Given the description of an element on the screen output the (x, y) to click on. 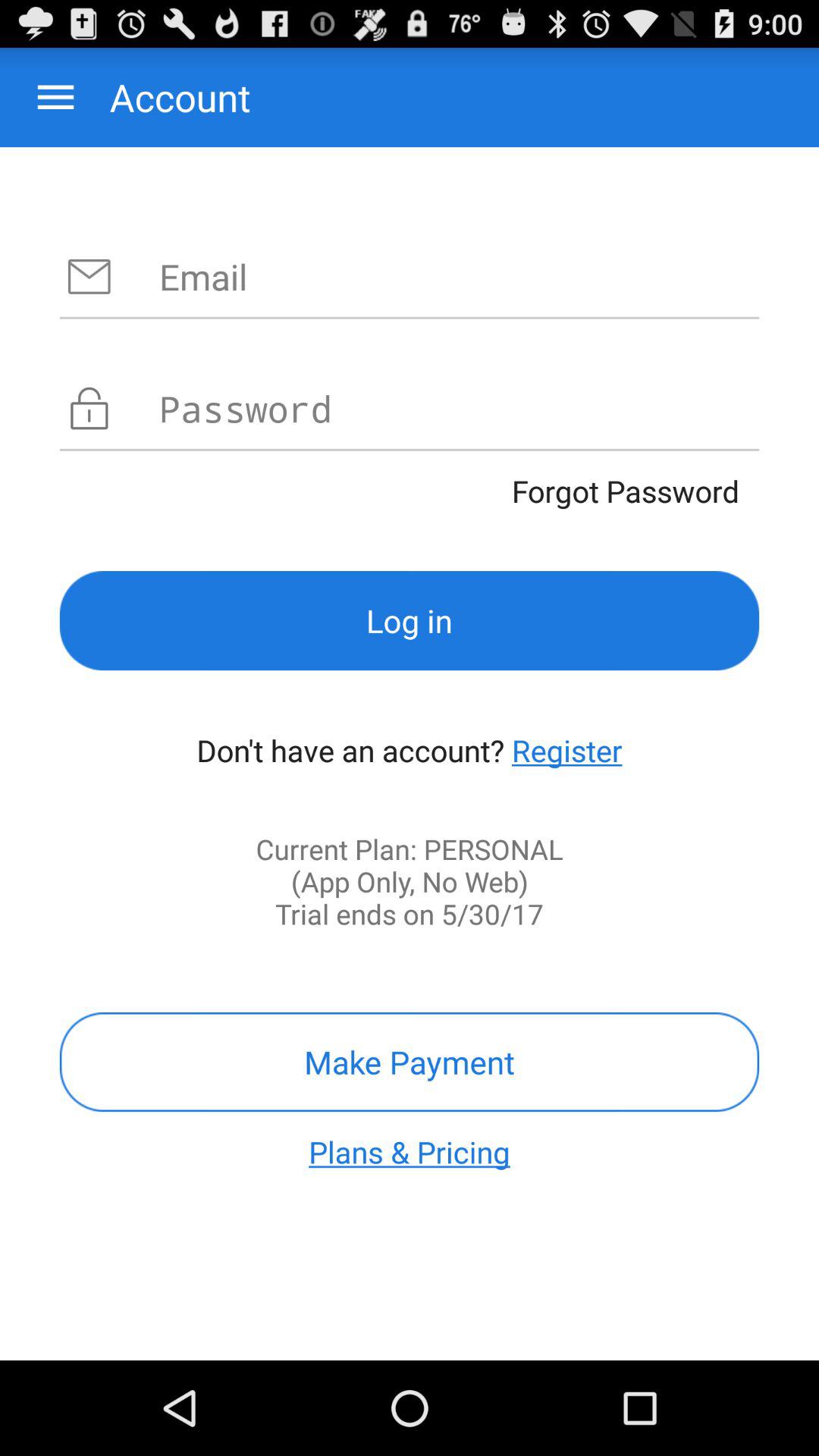
turn off app below the current plan personal item (409, 1061)
